Given the description of an element on the screen output the (x, y) to click on. 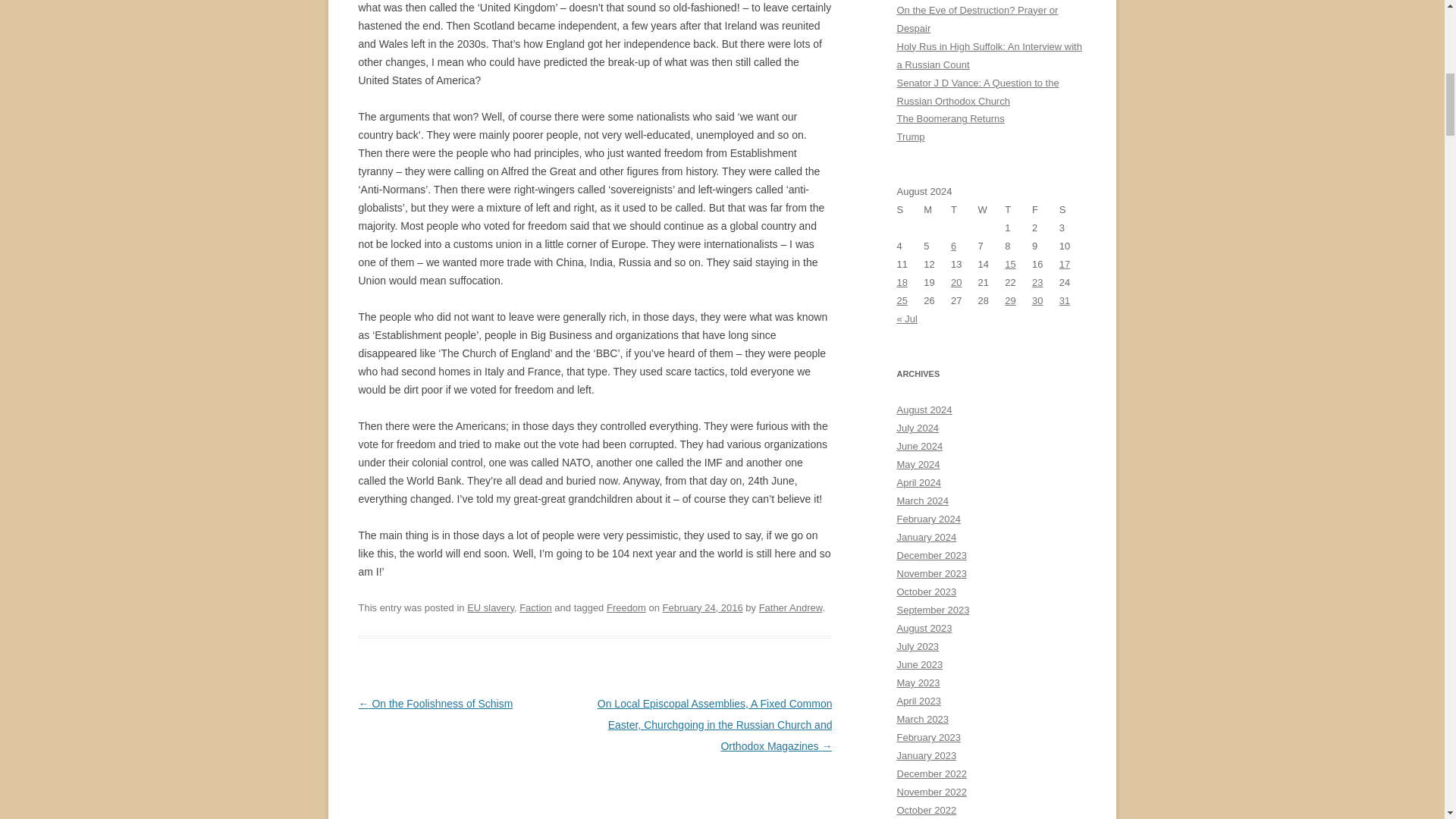
Father Andrew (790, 607)
Senator J D Vance: A Question to the Russian Orthodox Church (977, 91)
The Boomerang Returns (950, 118)
View all posts by Father Andrew (790, 607)
Sunday (909, 209)
Tuesday (964, 209)
Trump (910, 136)
Freedom (626, 607)
Faction (535, 607)
Monday (936, 209)
